Given the description of an element on the screen output the (x, y) to click on. 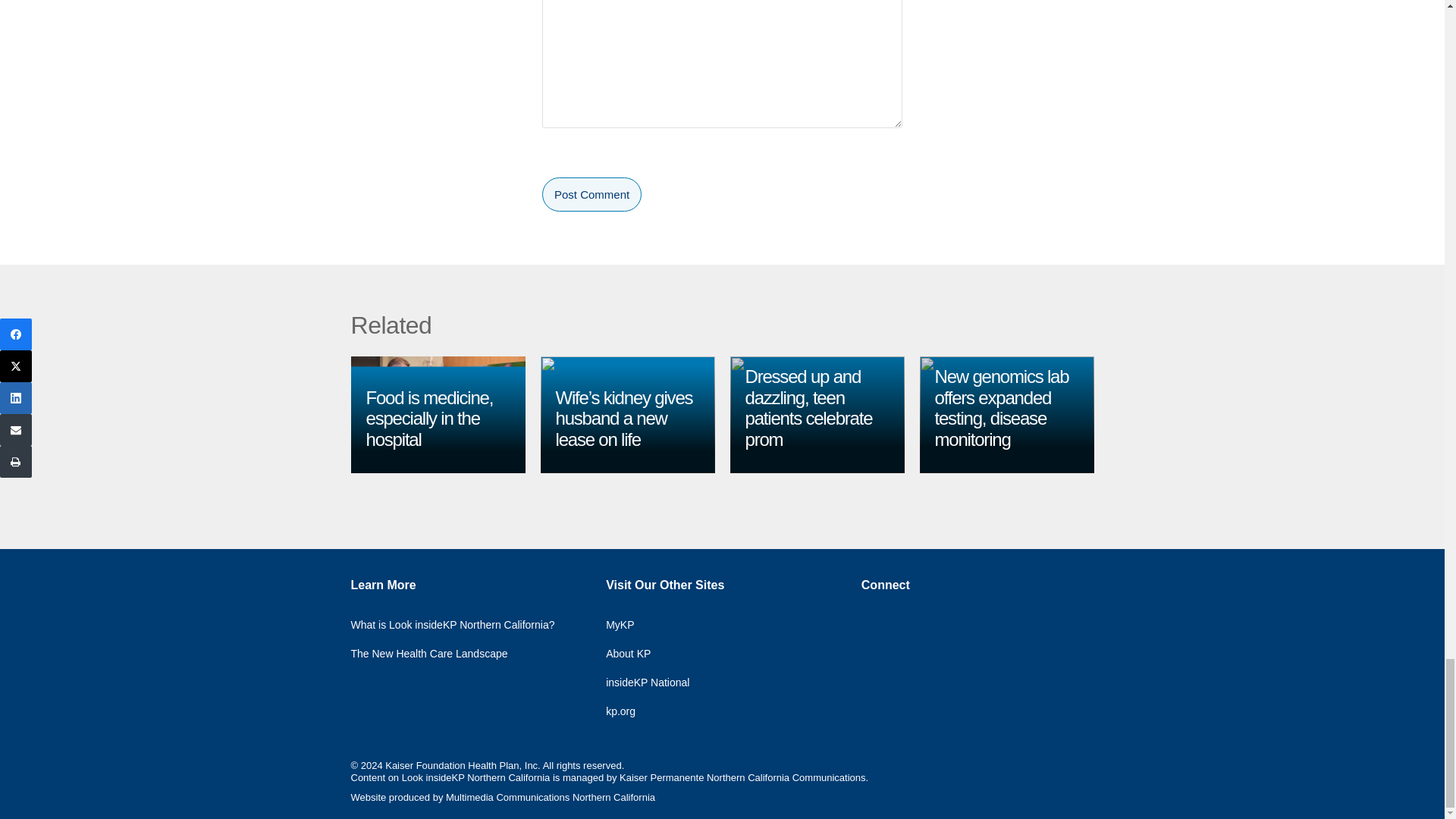
Food is medicine, especially in the hospital (429, 418)
Post Comment (591, 194)
New genomics lab offers expanded testing, disease monitoring (1001, 407)
MyKP (630, 620)
insideKP National (658, 678)
Dressed up and dazzling, teen patients celebrate prom (808, 407)
New genomics lab offers expanded testing, disease monitoring (1001, 407)
Food is medicine, especially in the hospital (429, 418)
Post Comment (591, 194)
Twitter (904, 617)
